Given the description of an element on the screen output the (x, y) to click on. 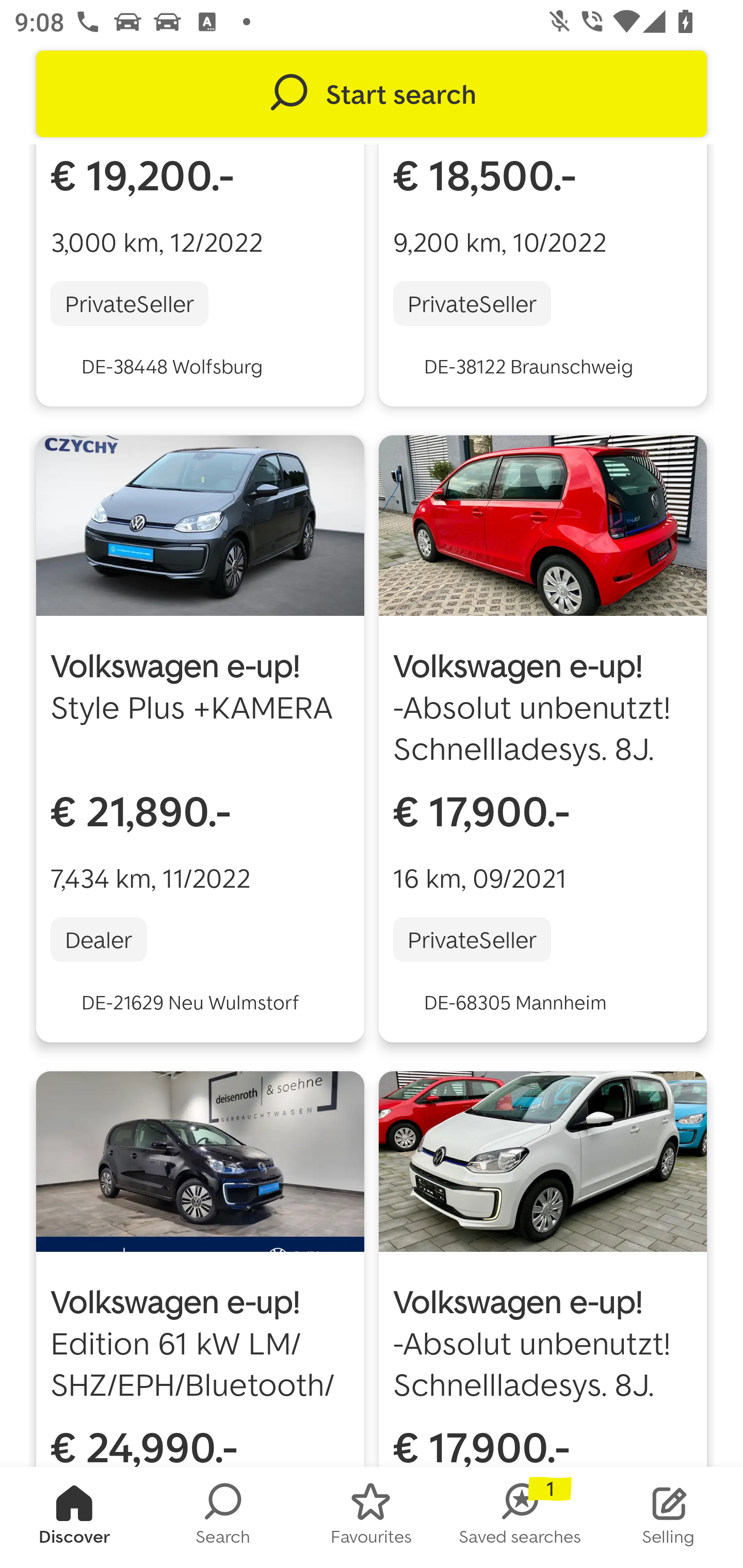
Start search (371, 93)
HOMESCREEN Discover (74, 1517)
SEARCH Search (222, 1517)
FAVORITES Favourites (371, 1517)
SAVED_SEARCHES Saved searches 1 (519, 1517)
STOCK_LIST Selling (668, 1517)
